Given the description of an element on the screen output the (x, y) to click on. 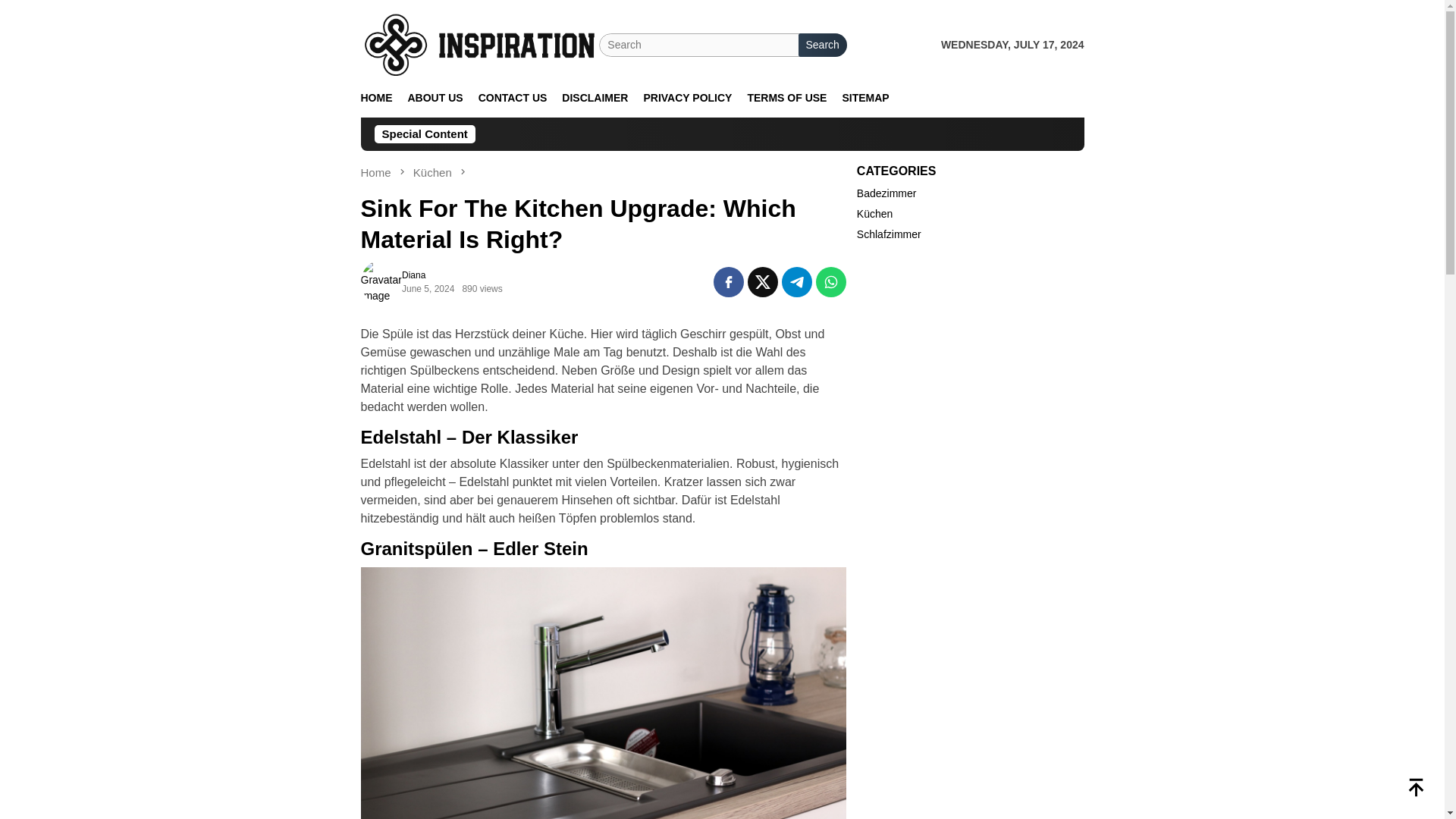
Diana (413, 275)
PRIVACY POLICY (686, 97)
Permalink to: Diana (381, 281)
Share this (728, 281)
Deko ideen (480, 43)
ABOUT US (435, 97)
Home (377, 172)
Gravatar (381, 281)
Telegram Share (796, 281)
Permalink to: Diana (413, 275)
WhatsApp this (830, 281)
Tweet this (762, 281)
Search (821, 44)
Deko ideen (480, 44)
